Given the description of an element on the screen output the (x, y) to click on. 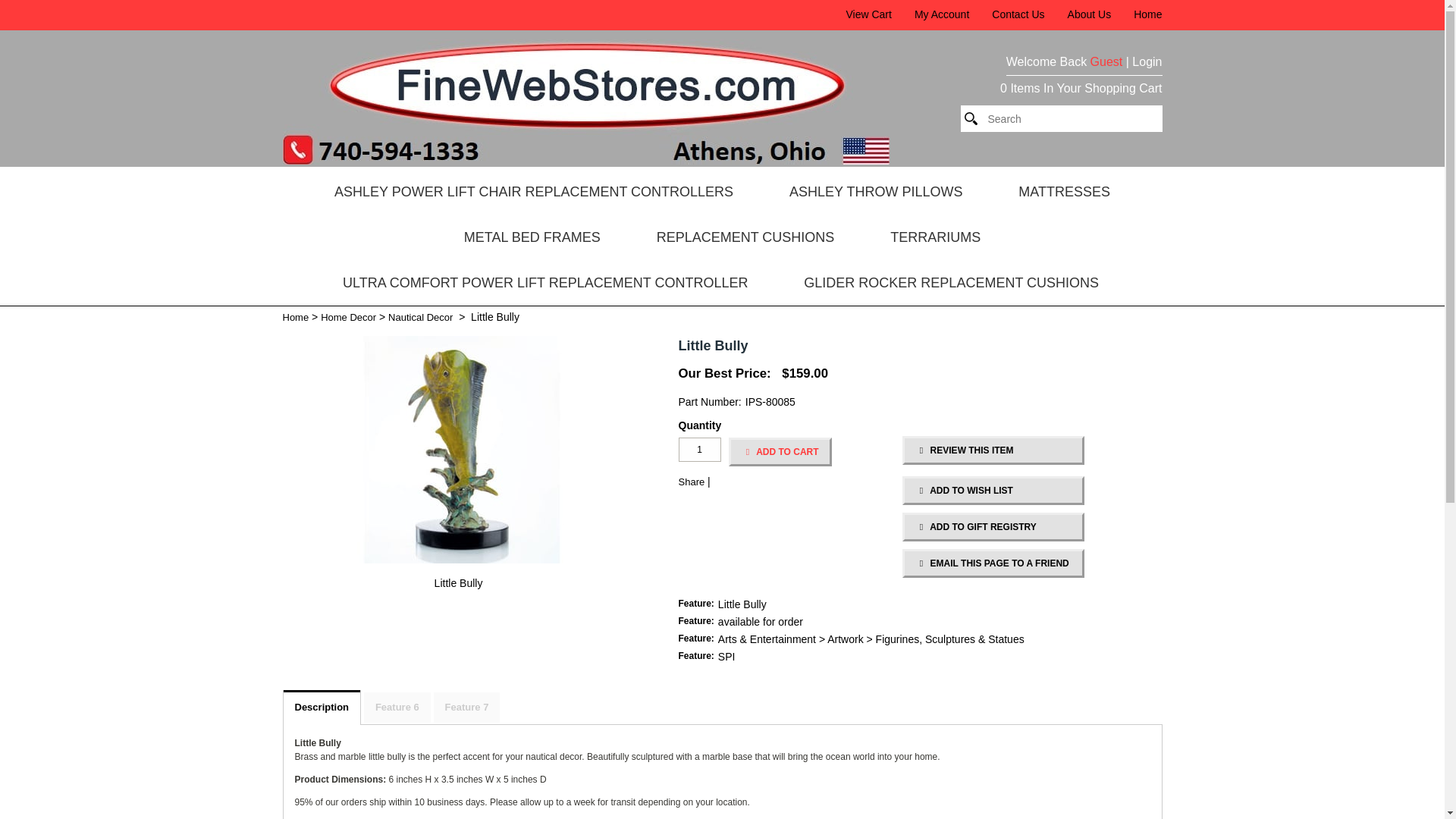
0 Items In Your Shopping Cart (1080, 89)
Home (295, 317)
Little Bully  (457, 583)
REPLACEMENT CUSHIONS (745, 237)
home (585, 161)
Home (1147, 14)
My Account (941, 14)
Home Decor (347, 317)
ULTRA COMFORT POWER LIFT REPLACEMENT CONTROLLER (544, 282)
Login (1146, 63)
1 (699, 449)
View Cart (868, 14)
MATTRESSES (1064, 191)
TERRARIUMS (935, 237)
FineWebStores.com (585, 161)
